Given the description of an element on the screen output the (x, y) to click on. 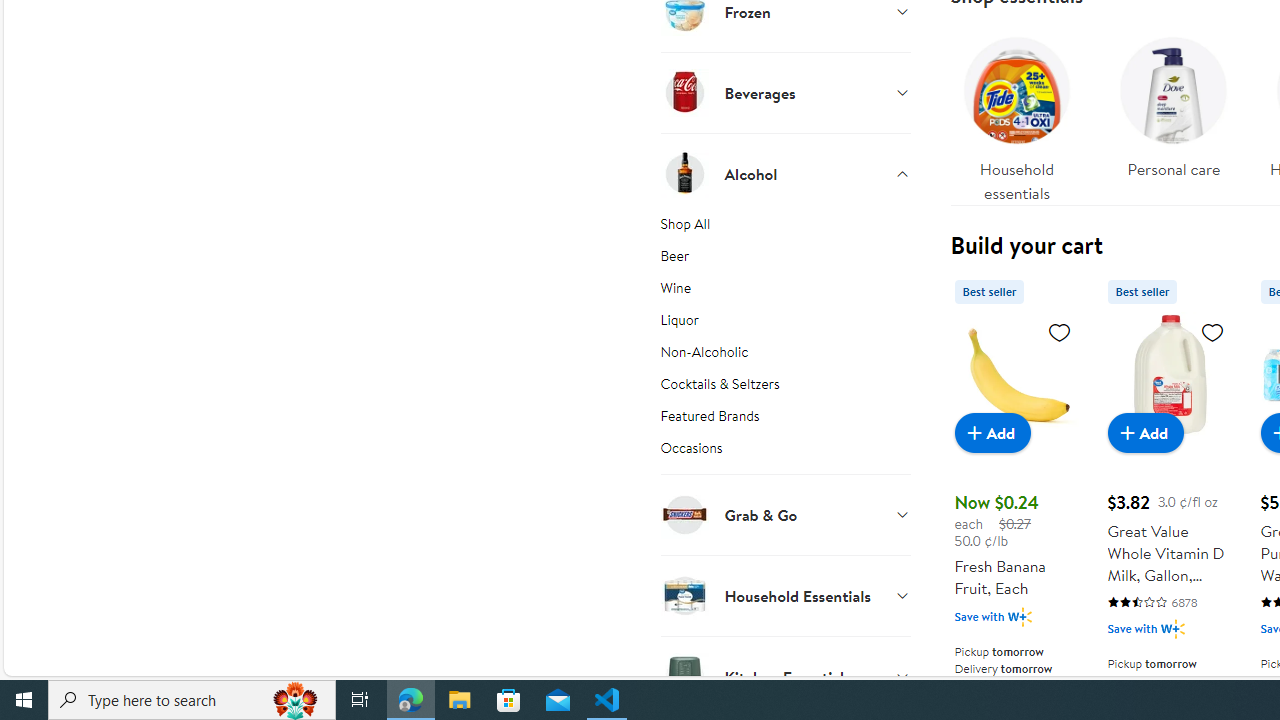
Alcohol (785, 173)
Shop All (785, 227)
Beer (785, 260)
Cocktails & Seltzers (785, 387)
Beer (785, 260)
